Given the description of an element on the screen output the (x, y) to click on. 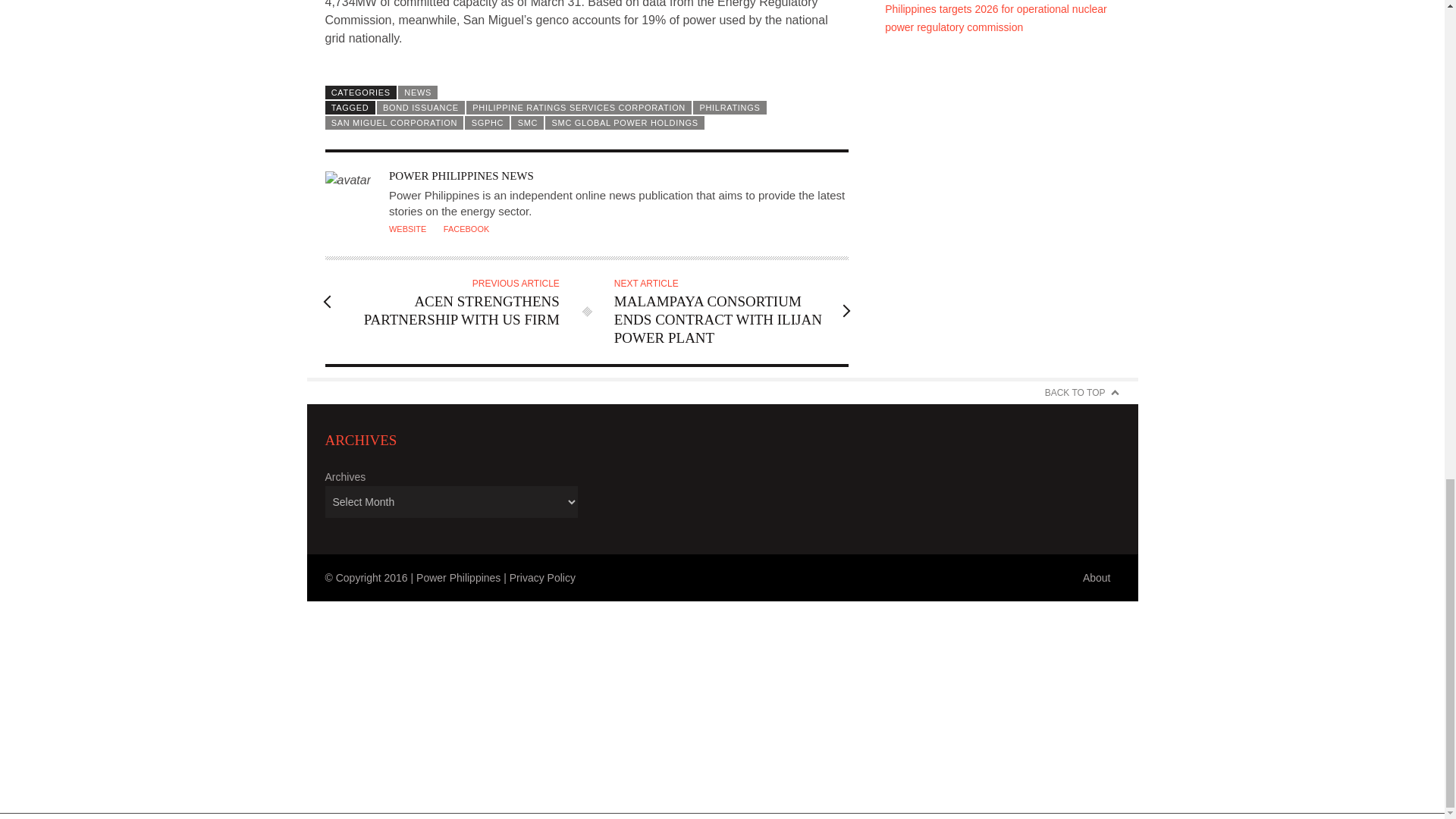
WEBSITE (407, 228)
View all posts tagged SMC Global Power Holdings (624, 122)
NEWS (417, 92)
SGPHC (486, 122)
POWER PHILIPPINES NEWS (461, 175)
View all posts tagged PhilRatings (729, 107)
BOND ISSUANCE (420, 107)
View all posts tagged bond issuance (420, 107)
FACEBOOK (466, 228)
View all posts tagged SGPHC (486, 122)
